Given the description of an element on the screen output the (x, y) to click on. 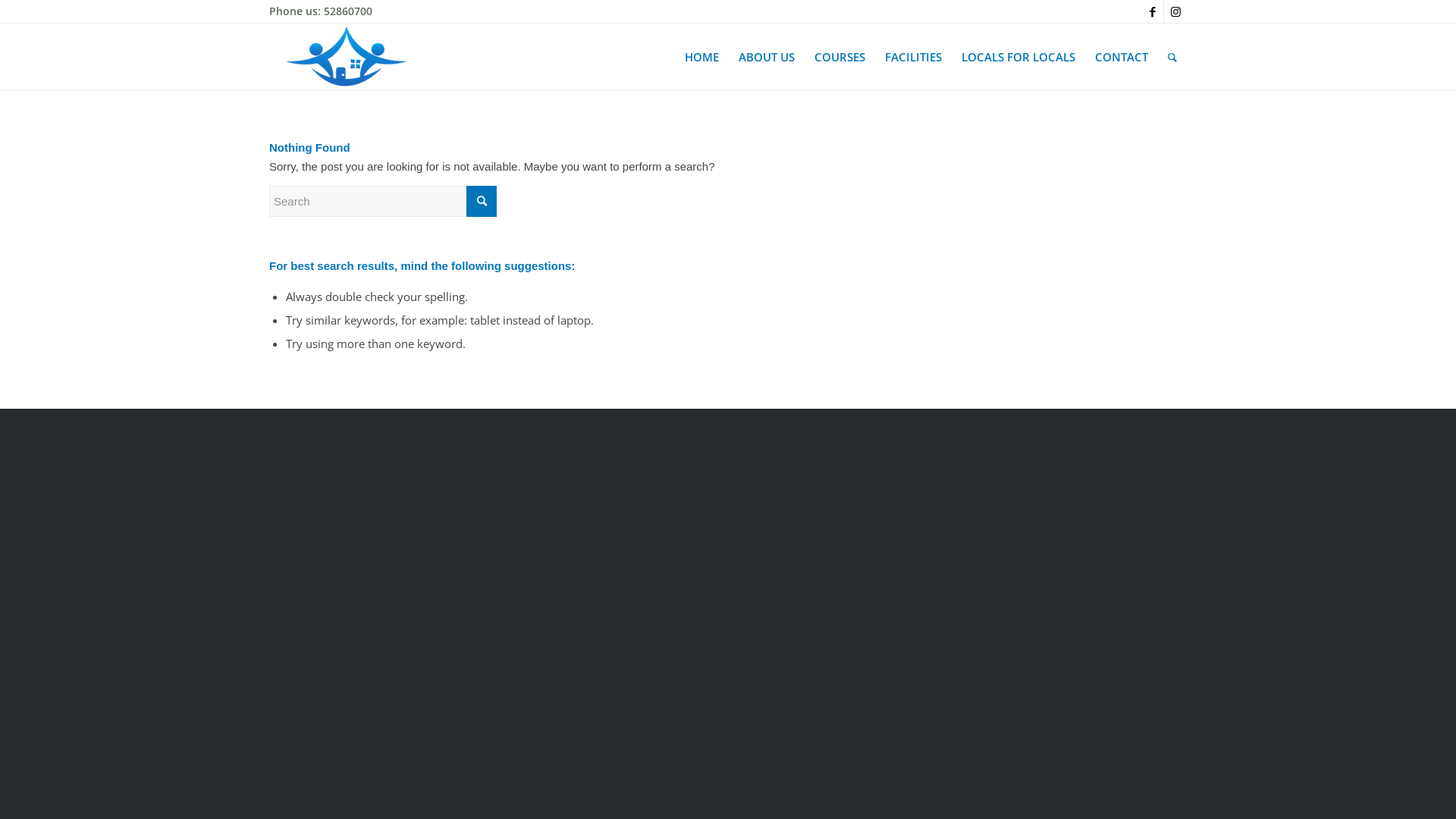
COURSES Element type: text (839, 56)
CONTACT Element type: text (1121, 56)
Facebook Element type: hover (1152, 11)
HOME Element type: text (701, 56)
LOCALS FOR LOCALS Element type: text (1018, 56)
Instagram Element type: hover (1175, 11)
ABOUT US Element type: text (766, 56)
logo Element type: hover (347, 56)
FACILITIES Element type: text (913, 56)
